Given the description of an element on the screen output the (x, y) to click on. 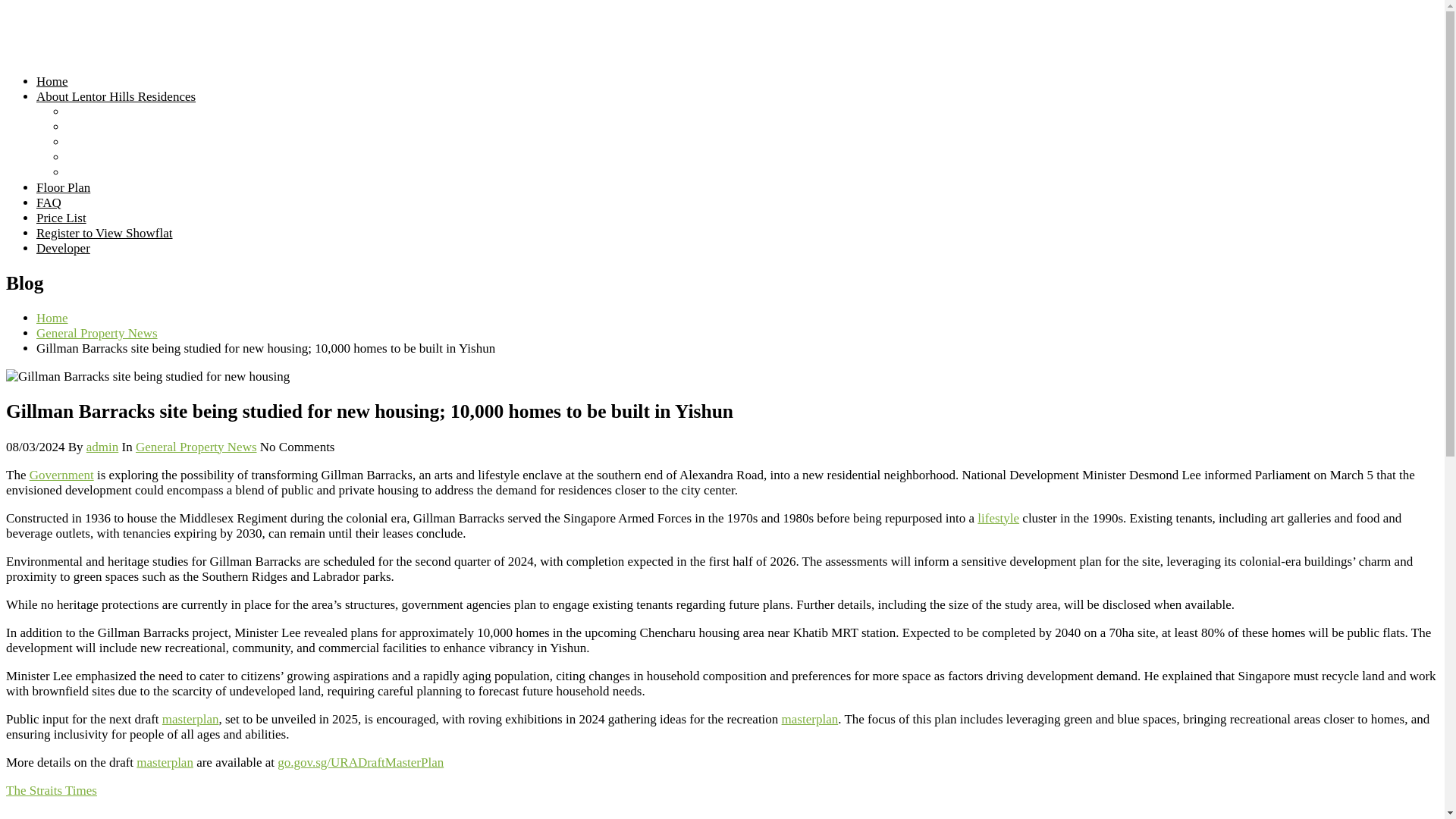
About Lentor Hills Residences (115, 96)
Price List (60, 217)
Project Gallery (105, 172)
Gillman Barracks site being studied for new housing scaled (147, 376)
FAQ (48, 202)
Home (52, 81)
Government (61, 474)
cityscape of hong kong (649, 815)
Schools (86, 142)
Home (52, 318)
masterplan (164, 762)
General Property News (96, 332)
The Straits Times (51, 789)
Location (89, 126)
Posts by admin (102, 446)
